Given the description of an element on the screen output the (x, y) to click on. 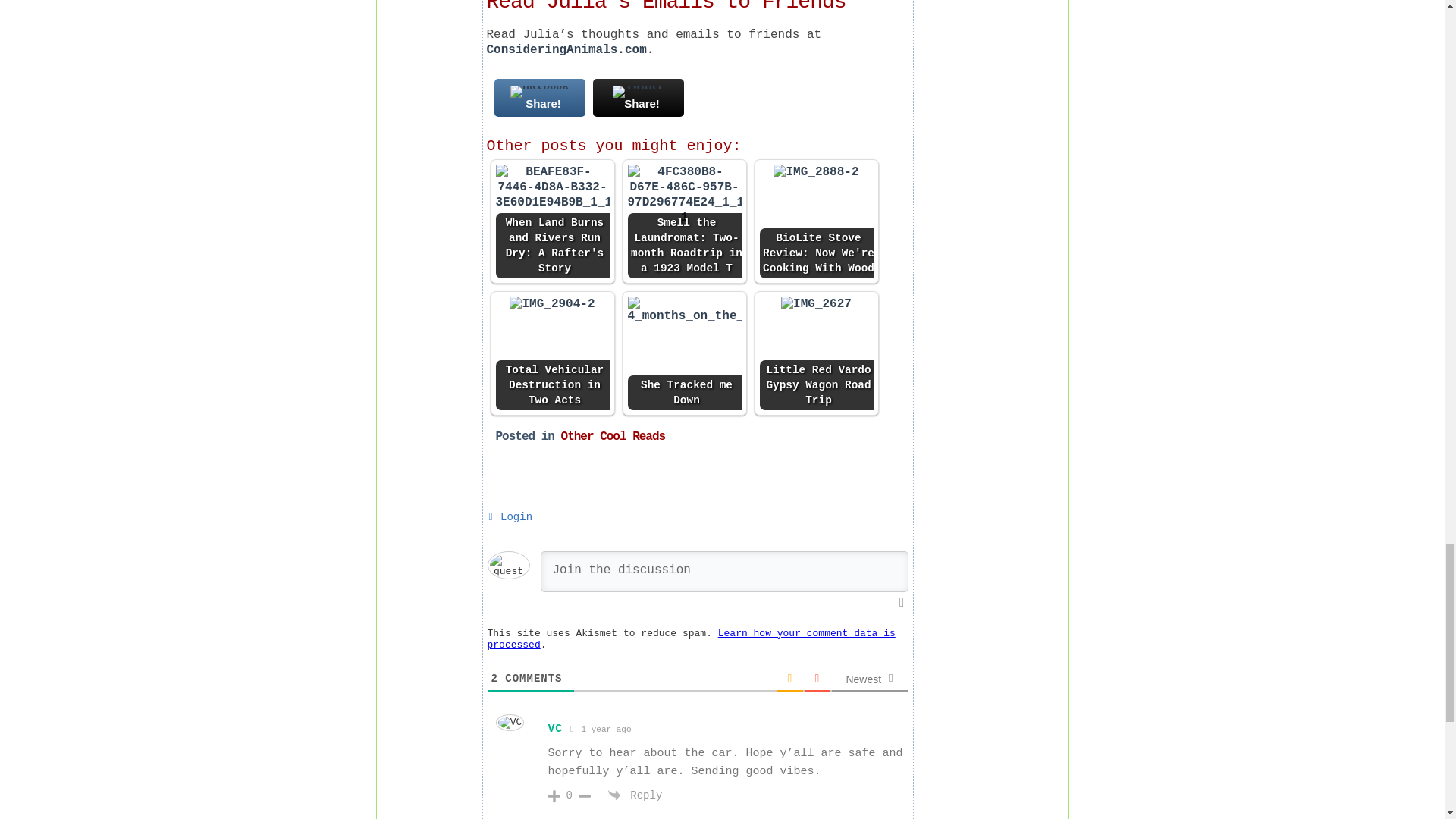
Smell the Laundromat: Two-month Roadtrip in a 1923 Model T (684, 221)
When Land Burns and Rivers Run Dry: A Rafter's Story (553, 186)
October 25, 2022 6:06 pm (600, 728)
Share! (638, 96)
Share! (540, 96)
When Land Burns and Rivers Run Dry: A Rafter's Story (553, 221)
She Tracked me Down (684, 309)
Login (509, 517)
Little Red Vardo Gypsy Wagon Road Trip (815, 304)
Total Vehicular Destruction in Two Acts (551, 304)
Total Vehicular Destruction in Two Acts (553, 353)
BioLite Stove Review: Now We're Cooking With Wood (816, 171)
0 (568, 795)
BioLite Stove Review: Now We're Cooking With Wood (816, 221)
Other Cool Reads (612, 436)
